Given the description of an element on the screen output the (x, y) to click on. 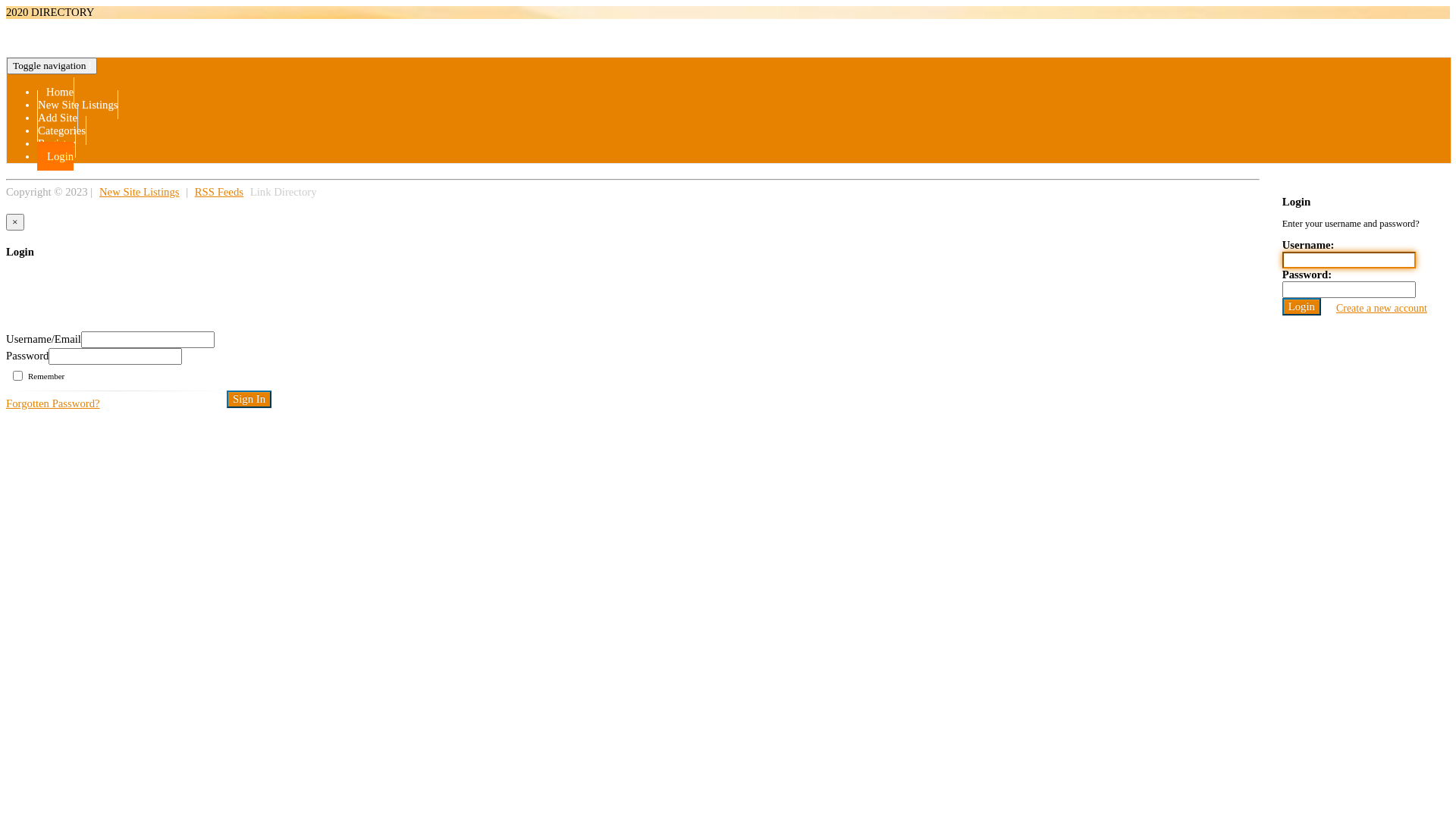
username Element type: hover (147, 339)
password Element type: hover (115, 356)
Login Element type: text (1301, 306)
RSS Feeds Element type: text (219, 191)
Toggle navigation Element type: text (51, 65)
Add Site Element type: text (57, 117)
Forgotten Password? Element type: text (53, 403)
New Site Listings Element type: text (77, 104)
Register Element type: text (56, 142)
2020 DIRECTORY Element type: text (50, 12)
Login Element type: text (55, 155)
Create a new account Element type: text (1381, 307)
Home Element type: text (55, 91)
Sign In Element type: text (248, 398)
New Site Listings Element type: text (138, 191)
Categories Element type: text (61, 130)
